Given the description of an element on the screen output the (x, y) to click on. 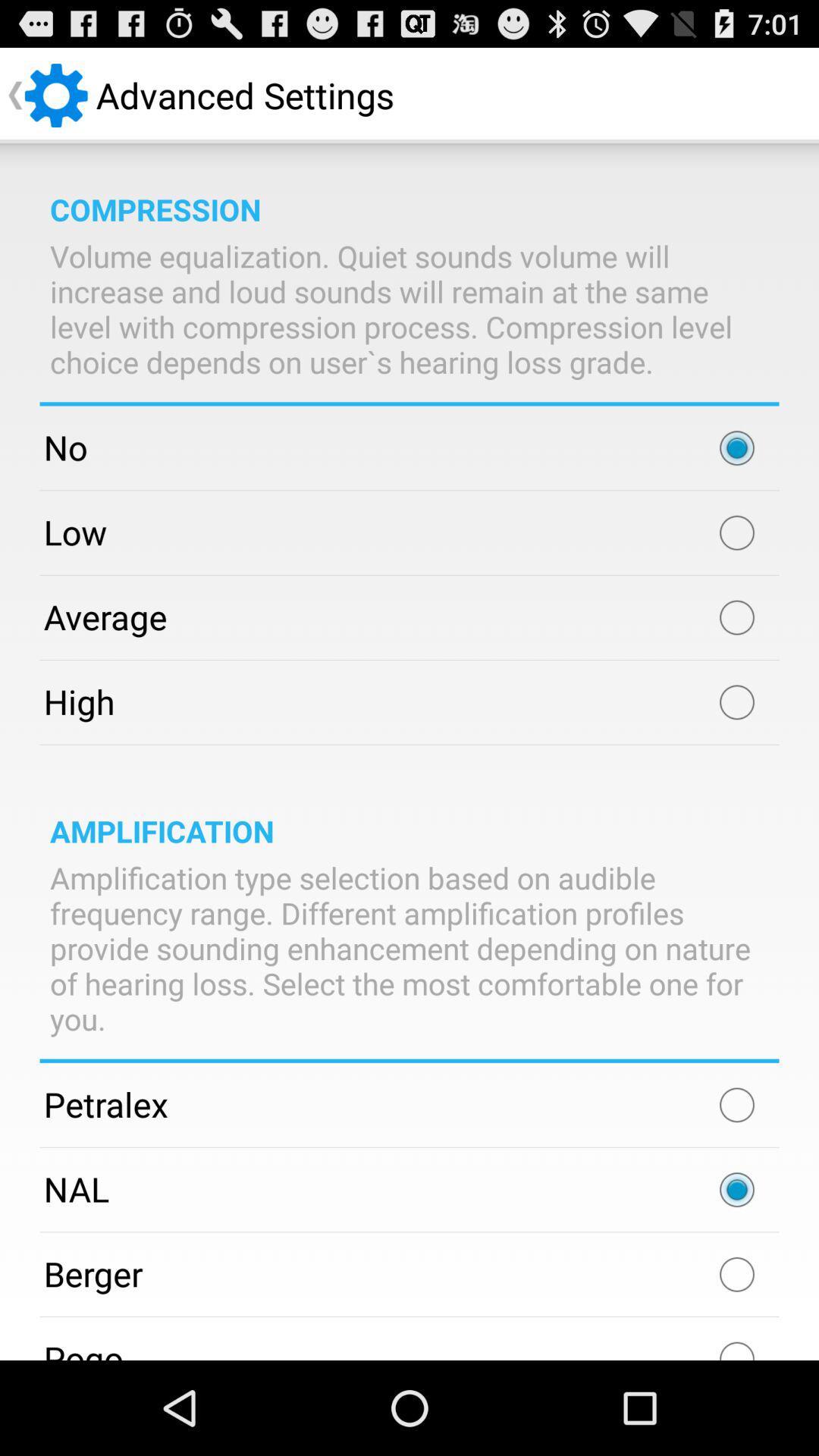
toggle high option (736, 702)
